Given the description of an element on the screen output the (x, y) to click on. 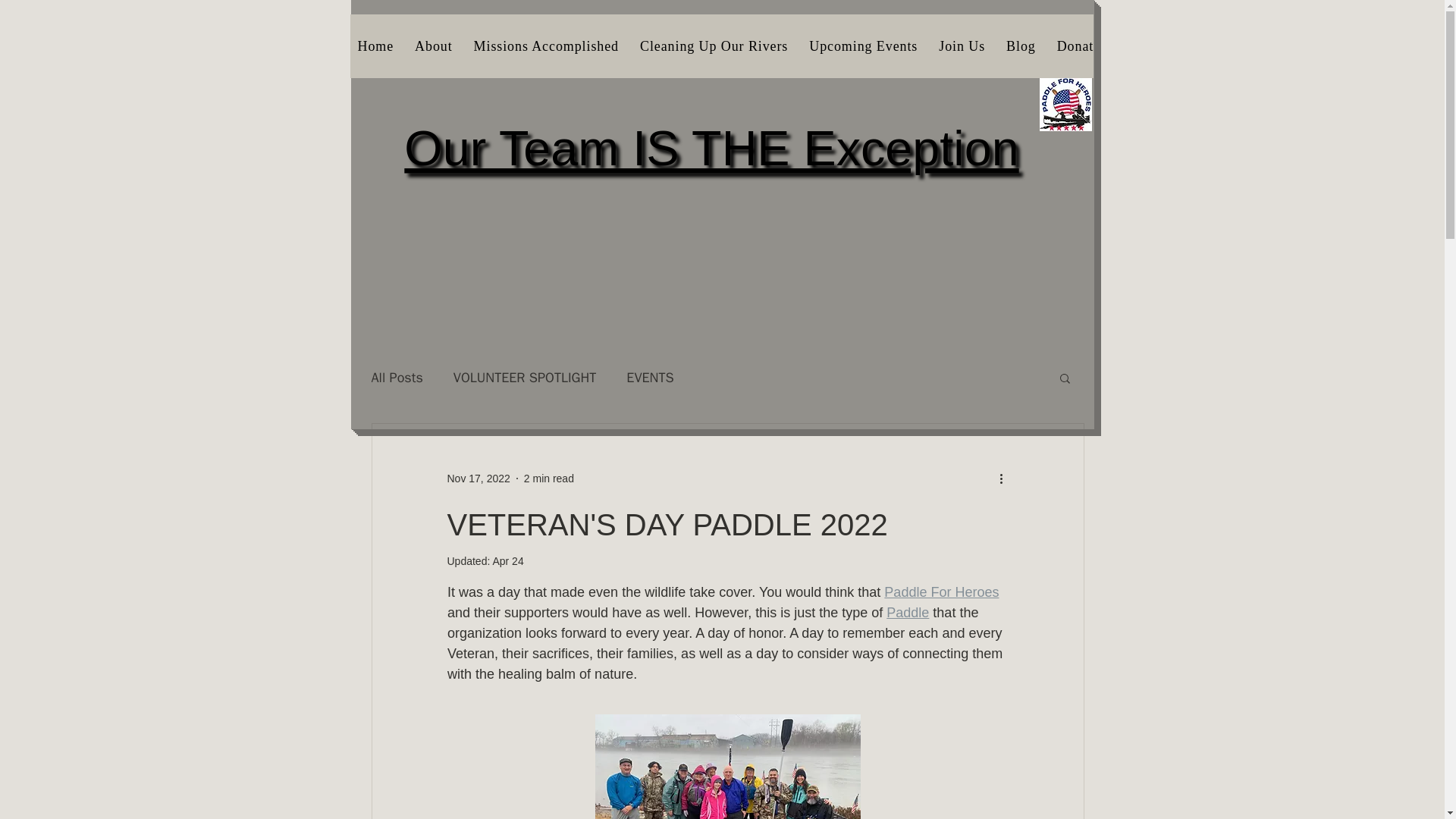
Cleaning Up Our Rivers (712, 45)
EVENTS (649, 377)
Image Gallery (1164, 45)
VOLUNTEER SPOTLIGHT (524, 377)
Apr 24 (711, 149)
Upcoming Events (507, 561)
Paddle (863, 45)
Paddle For Heroes (907, 612)
